Given the description of an element on the screen output the (x, y) to click on. 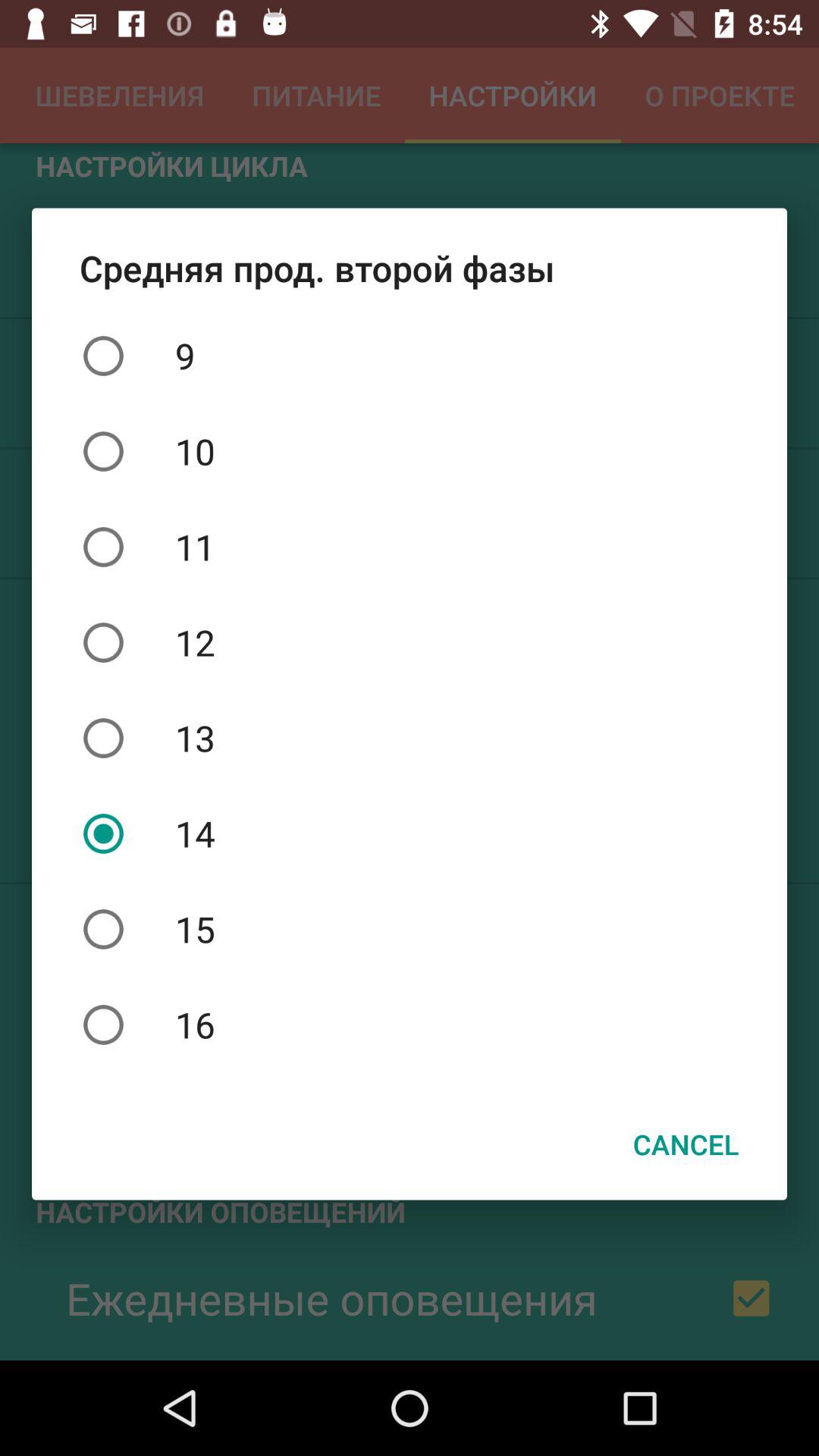
select 15 (409, 929)
